Given the description of an element on the screen output the (x, y) to click on. 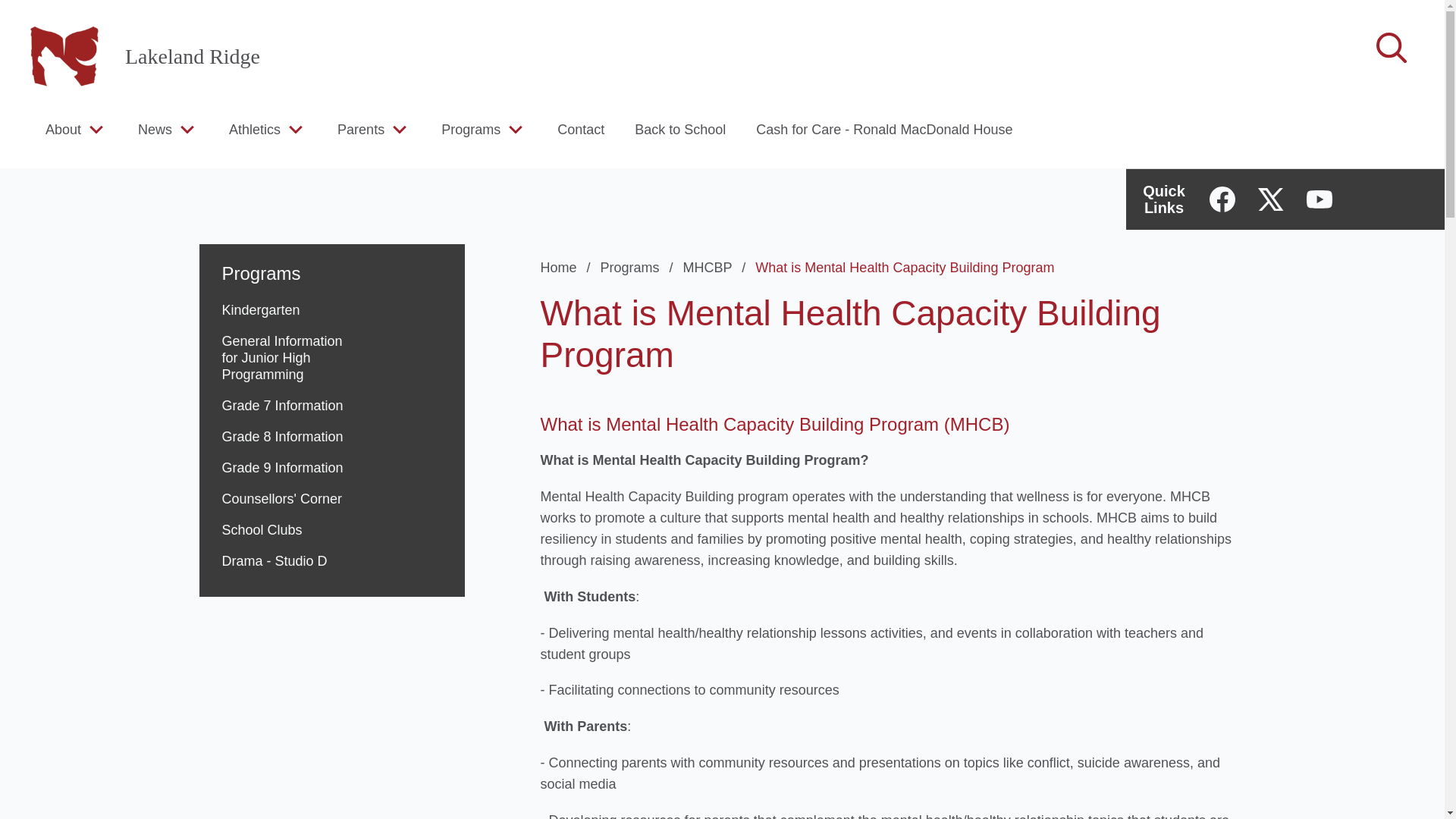
News (154, 129)
Lakeland Ridge's YouTube (1319, 199)
Athletics (254, 129)
Programs (639, 267)
About (63, 129)
Lakeland Ridge's Facebook (1221, 199)
Programs (331, 264)
MHCBP (717, 267)
Lakeland Ridge's X (1270, 199)
Quick Links (1163, 199)
